Given the description of an element on the screen output the (x, y) to click on. 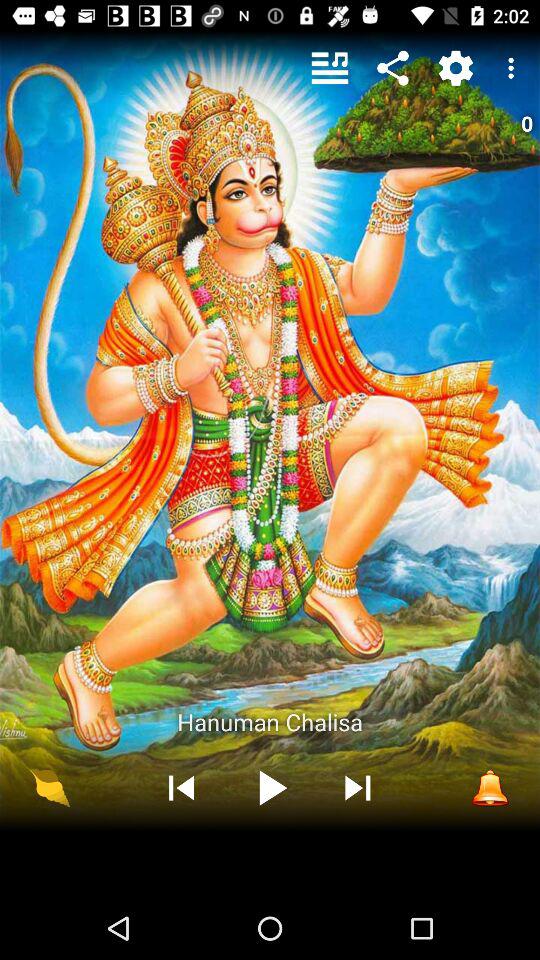
click the item above 0 icon (513, 67)
